Given the description of an element on the screen output the (x, y) to click on. 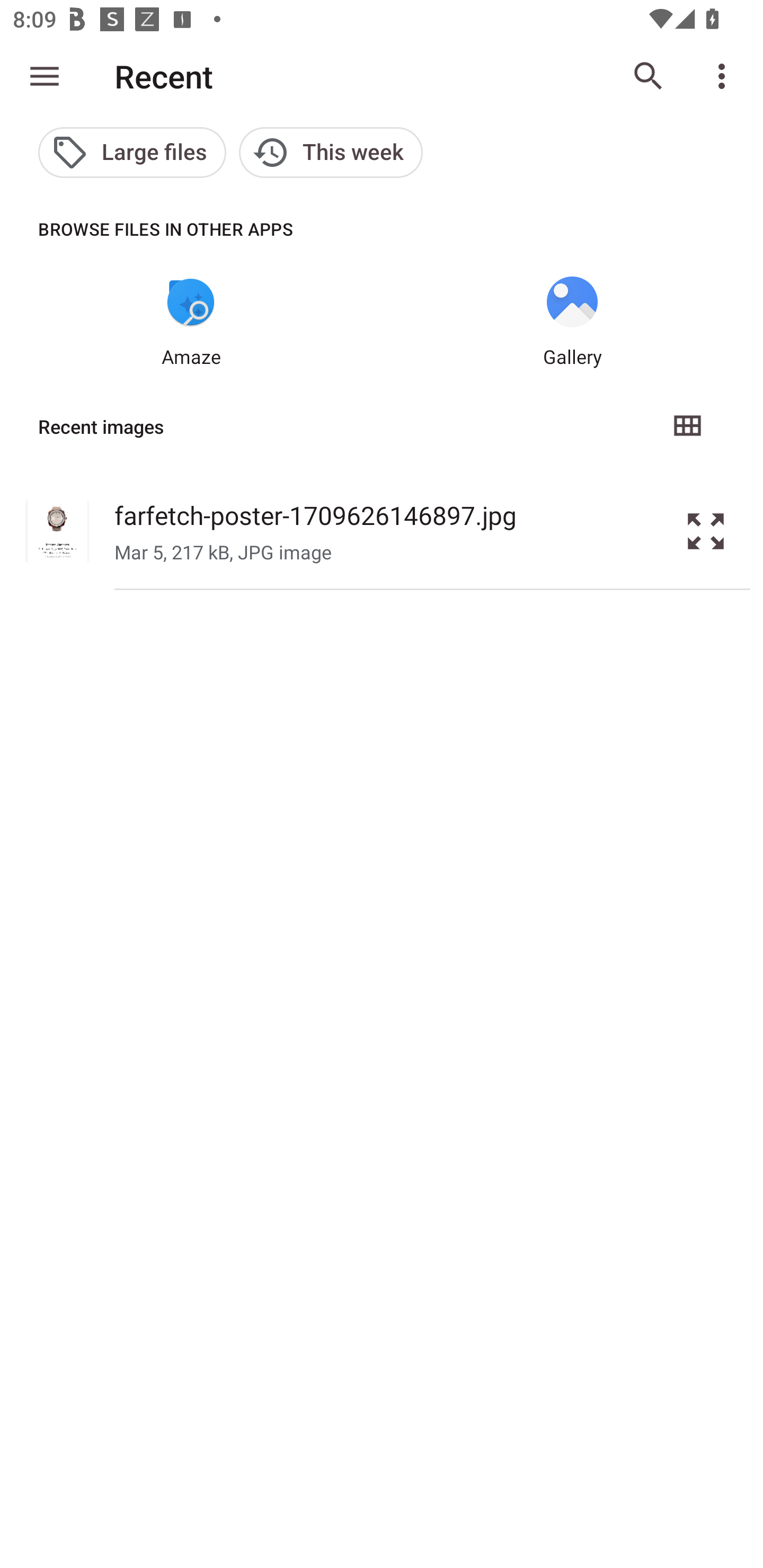
Show roots (44, 75)
Search (648, 75)
More options (724, 75)
Large files (132, 152)
This week (330, 152)
Amaze (190, 322)
Gallery (572, 322)
Grid view (686, 426)
Preview the file farfetch-poster-1709626146897.jpg (705, 530)
